Given the description of an element on the screen output the (x, y) to click on. 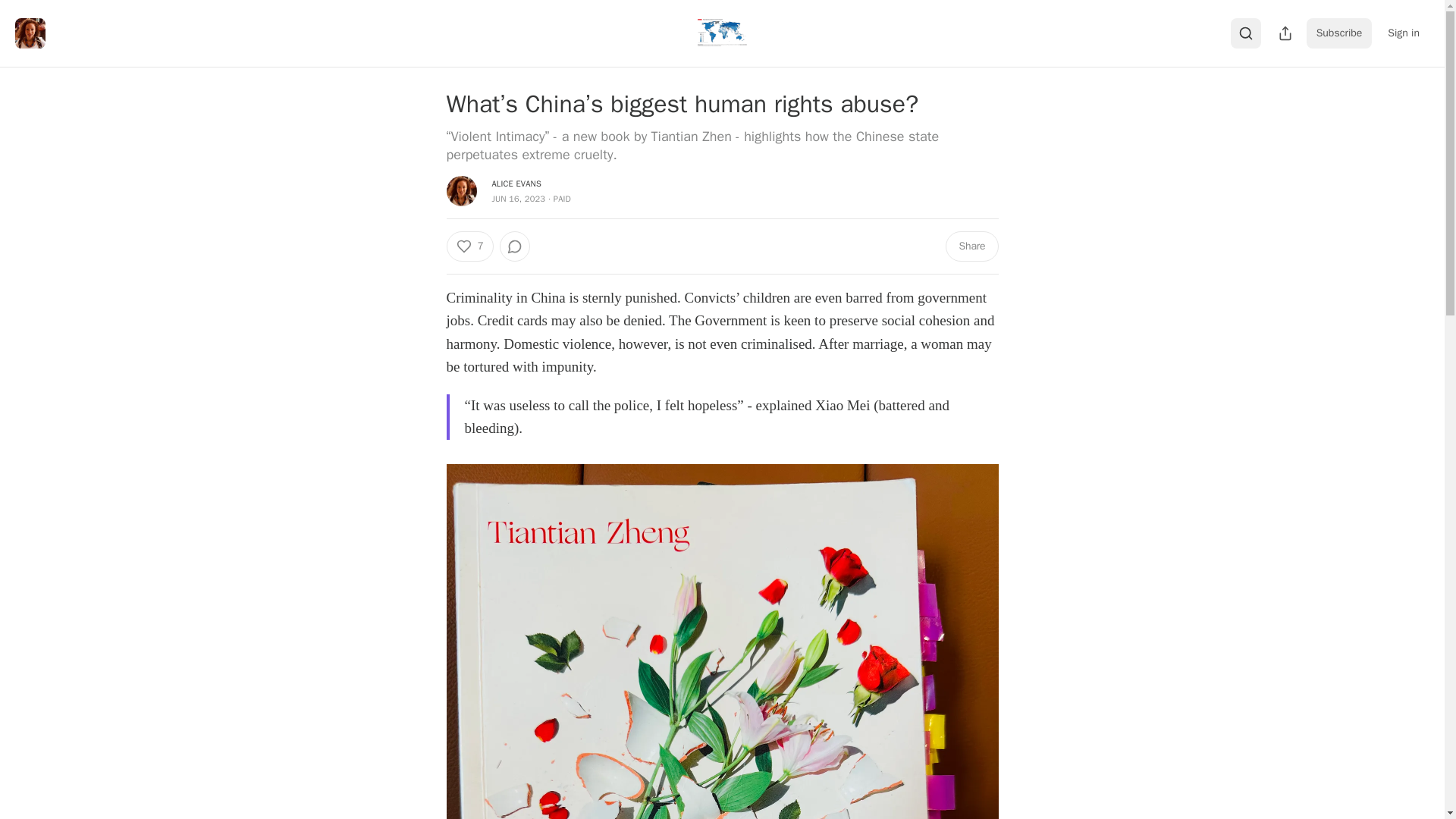
ALICE EVANS (516, 183)
Subscribe (1339, 33)
7 (469, 245)
Sign in (1403, 33)
Share (970, 245)
